Given the description of an element on the screen output the (x, y) to click on. 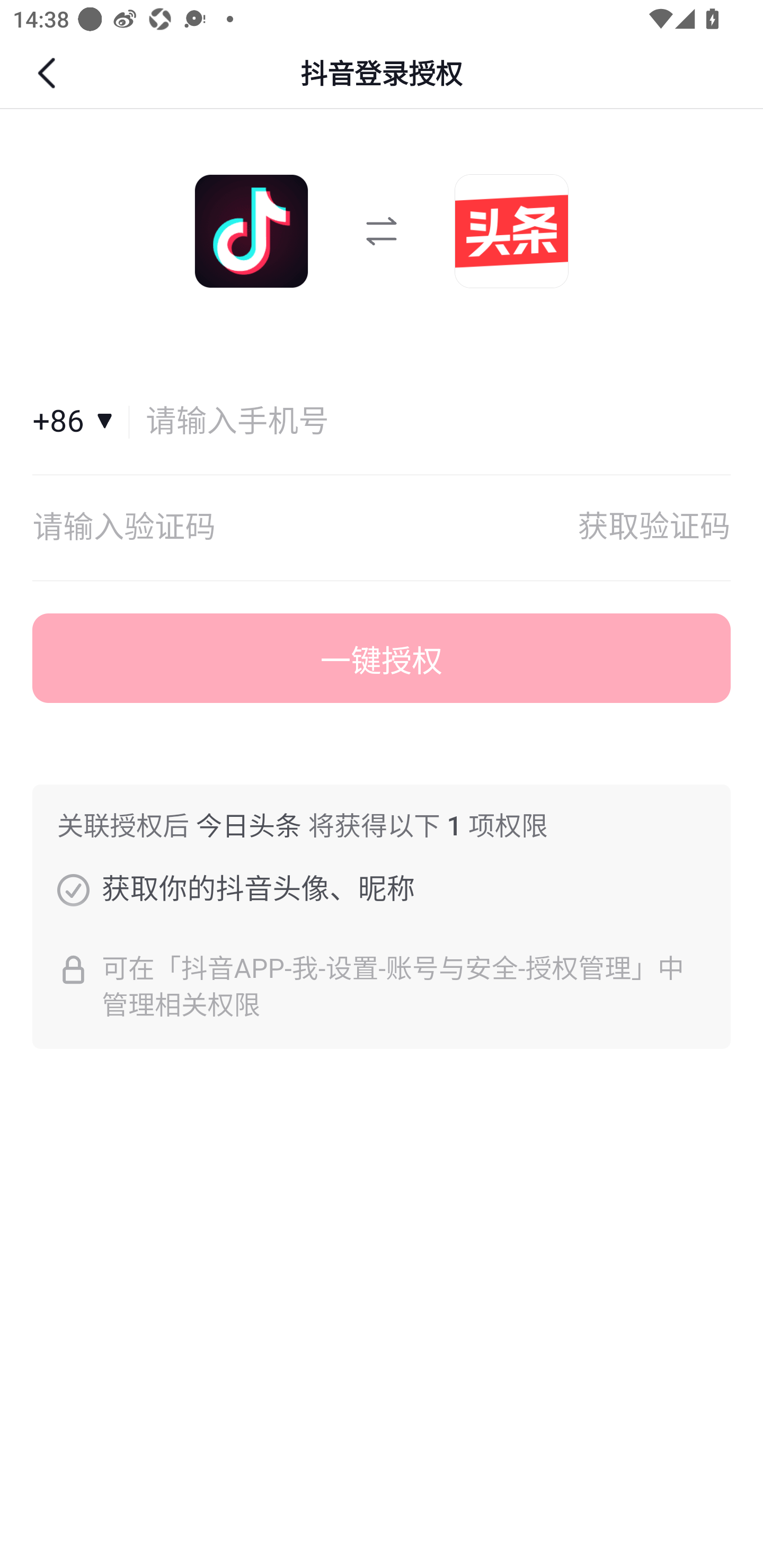
返回 (49, 72)
国家和地区+86 (81, 421)
获取验证码 (653, 527)
一键授权 (381, 658)
获取你的抖音头像、昵称 (72, 889)
